Given the description of an element on the screen output the (x, y) to click on. 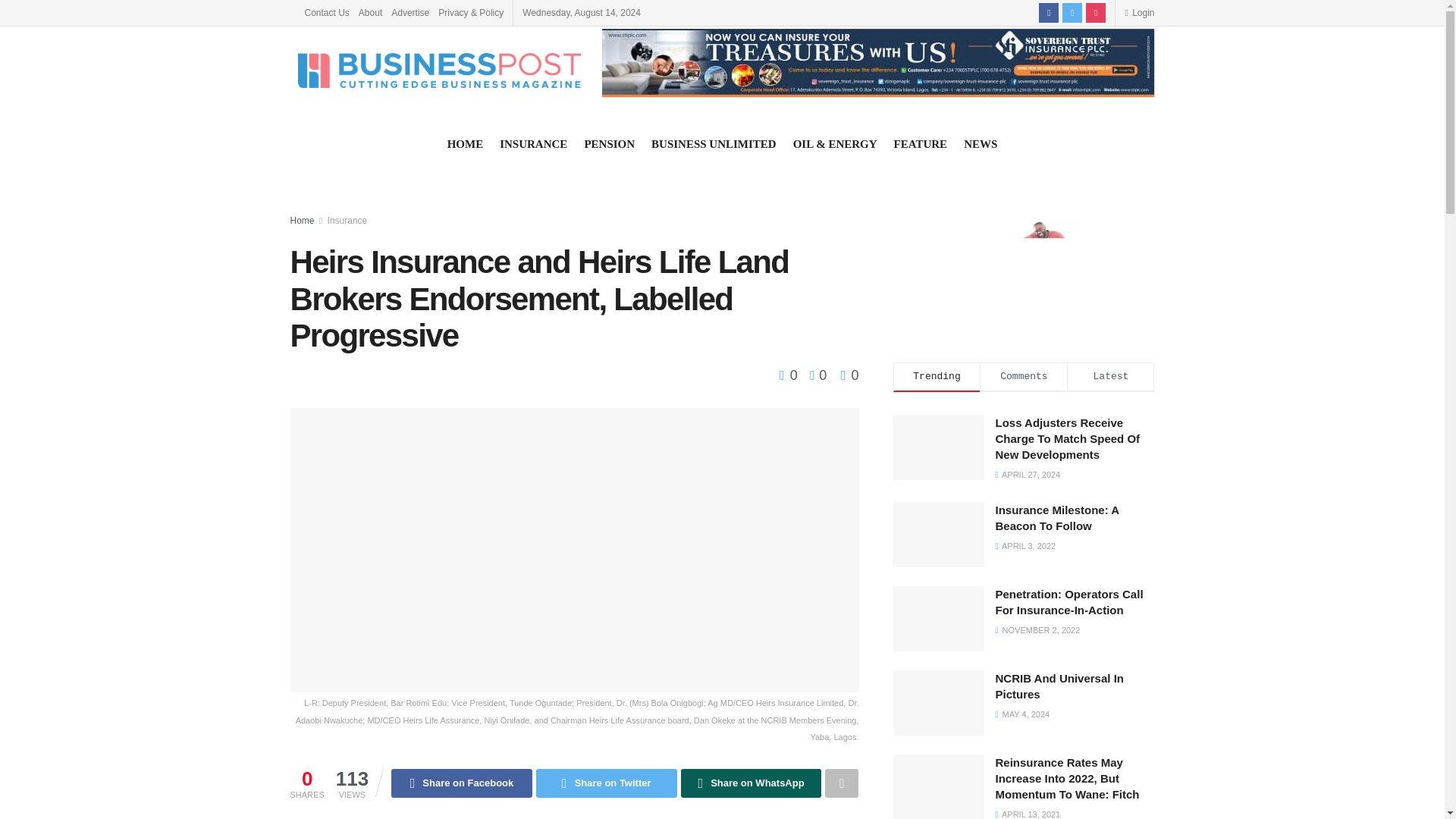
0 (790, 375)
HOME (464, 144)
About (369, 12)
BUSINESS UNLIMITED (713, 144)
NEWS (980, 144)
FEATURE (920, 144)
Contact Us (326, 12)
Home (301, 220)
0 (814, 375)
0 (850, 375)
